Given the description of an element on the screen output the (x, y) to click on. 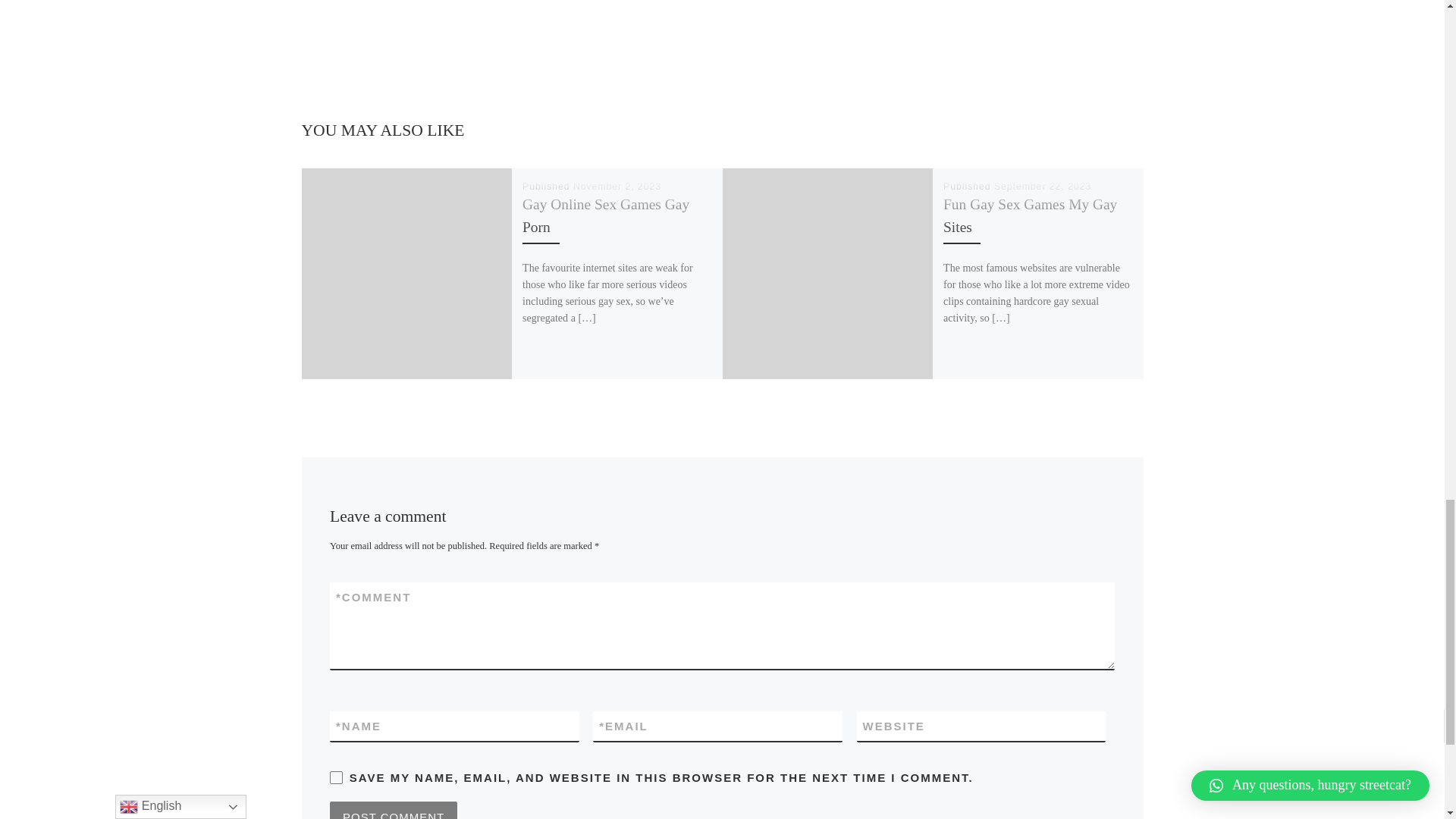
Gay Online Sex Games Gay Porn (605, 215)
Fun Gay Sex Games My Gay Sites (1029, 215)
September 22, 2023 (1042, 185)
yes (336, 777)
Post Comment (393, 810)
November 2, 2023 (617, 185)
